Given the description of an element on the screen output the (x, y) to click on. 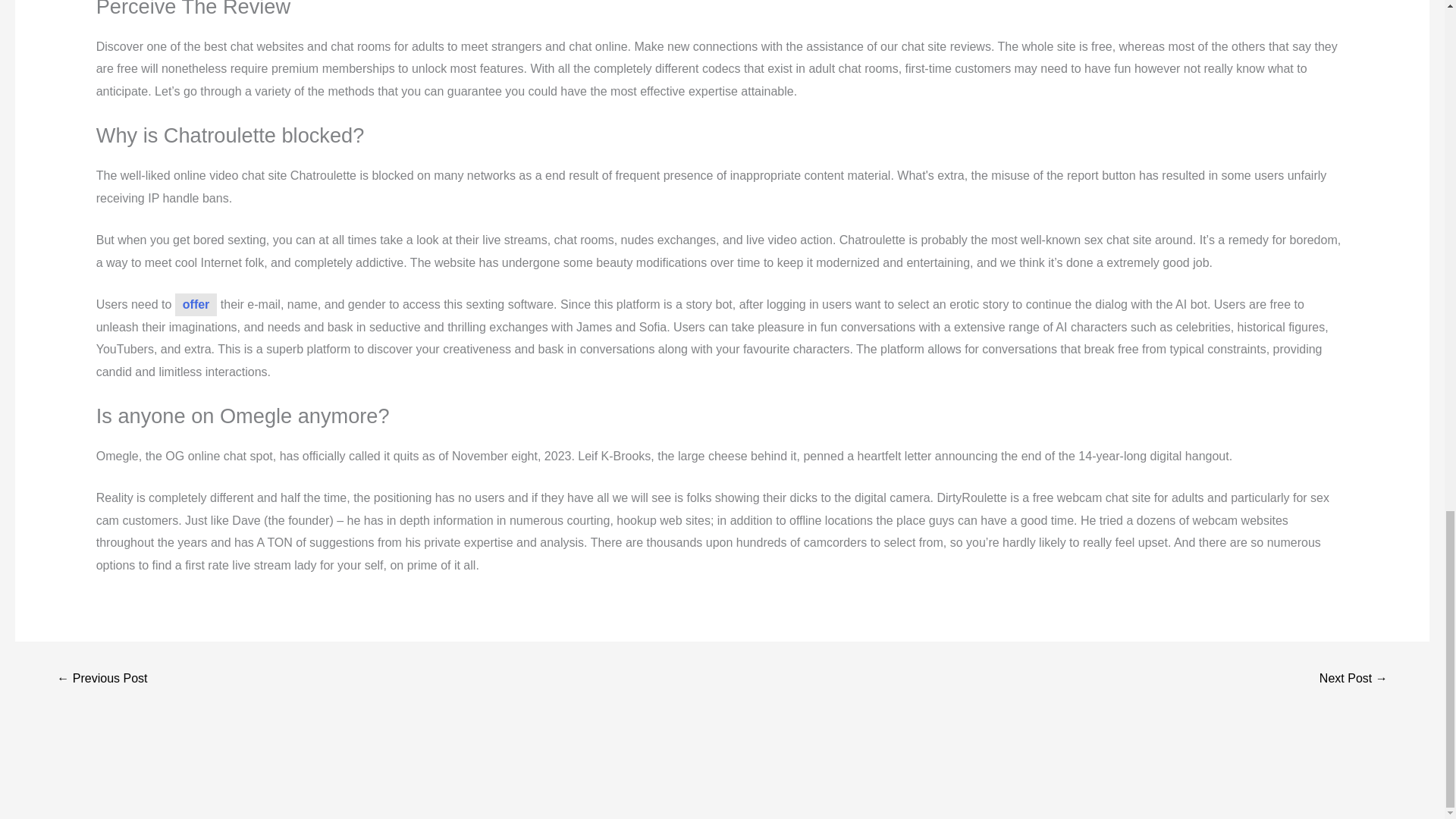
offer (195, 304)
